Given the description of an element on the screen output the (x, y) to click on. 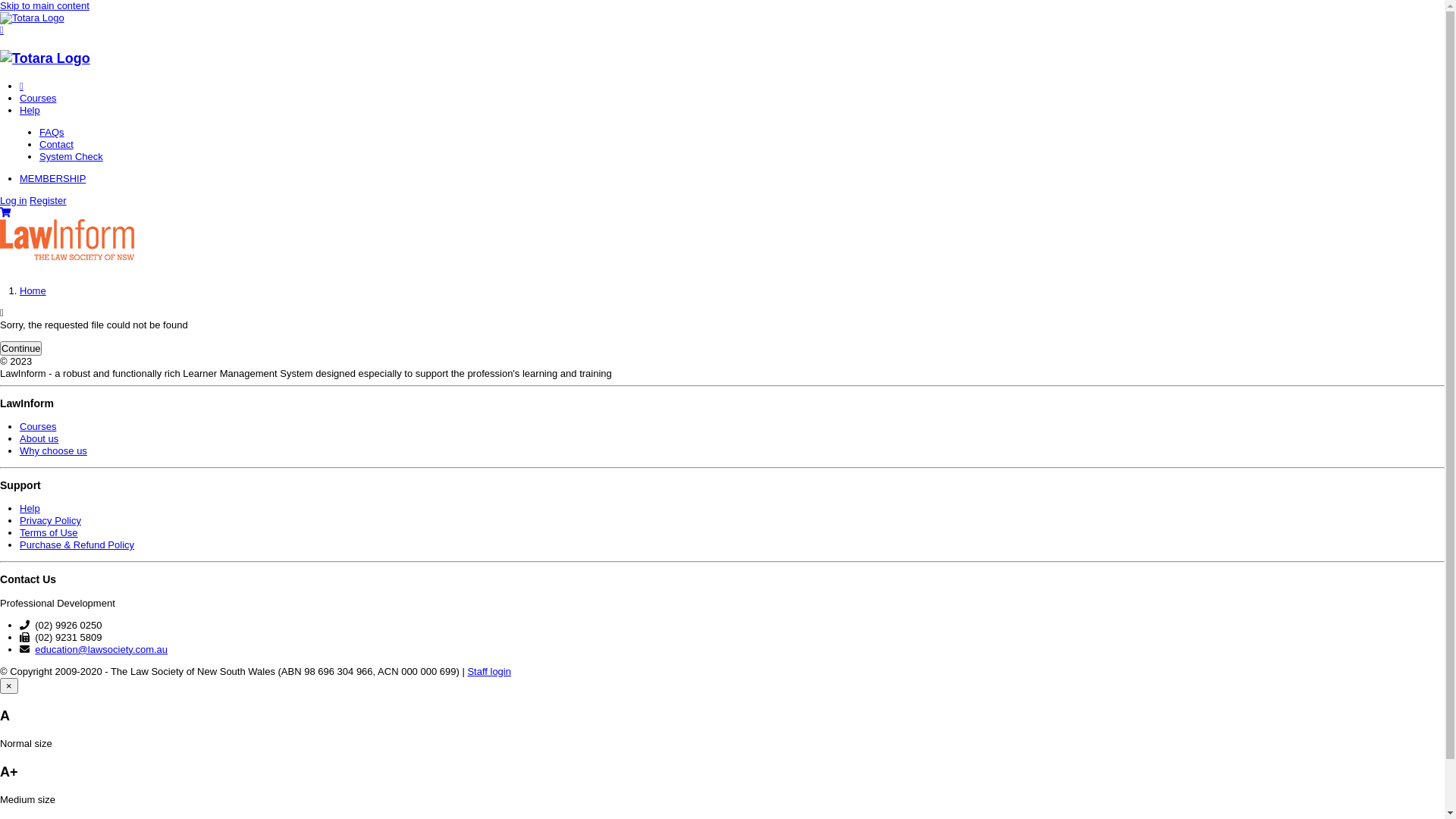
Privacy Policy Element type: text (50, 520)
MEMBERSHIP Element type: text (726, 178)
Why choose us Element type: text (53, 450)
Register Element type: text (47, 200)
System Check Element type: text (731, 156)
Log in Element type: text (13, 200)
Terms of Use Element type: text (48, 532)
Continue Element type: text (20, 348)
education@lawsociety.com.au Element type: text (100, 649)
Staff login Element type: text (489, 671)
LawInform Element type: text (32, 17)
Close Element type: text (21, 85)
Skip to main content Element type: text (44, 5)
Help Element type: text (726, 110)
Contact Element type: text (731, 144)
Home Element type: text (32, 290)
LawInform Element type: text (45, 57)
Toggle navigation Element type: hover (1, 29)
Toggle navigation Element type: text (1, 29)
About us Element type: text (38, 438)
Courses Element type: text (37, 426)
FAQs Element type: text (731, 132)
Purchase & Refund Policy Element type: text (76, 544)
LawInform Element type: text (67, 256)
Courses Element type: text (726, 98)
Help Element type: text (29, 508)
Close Element type: hover (21, 85)
